Given the description of an element on the screen output the (x, y) to click on. 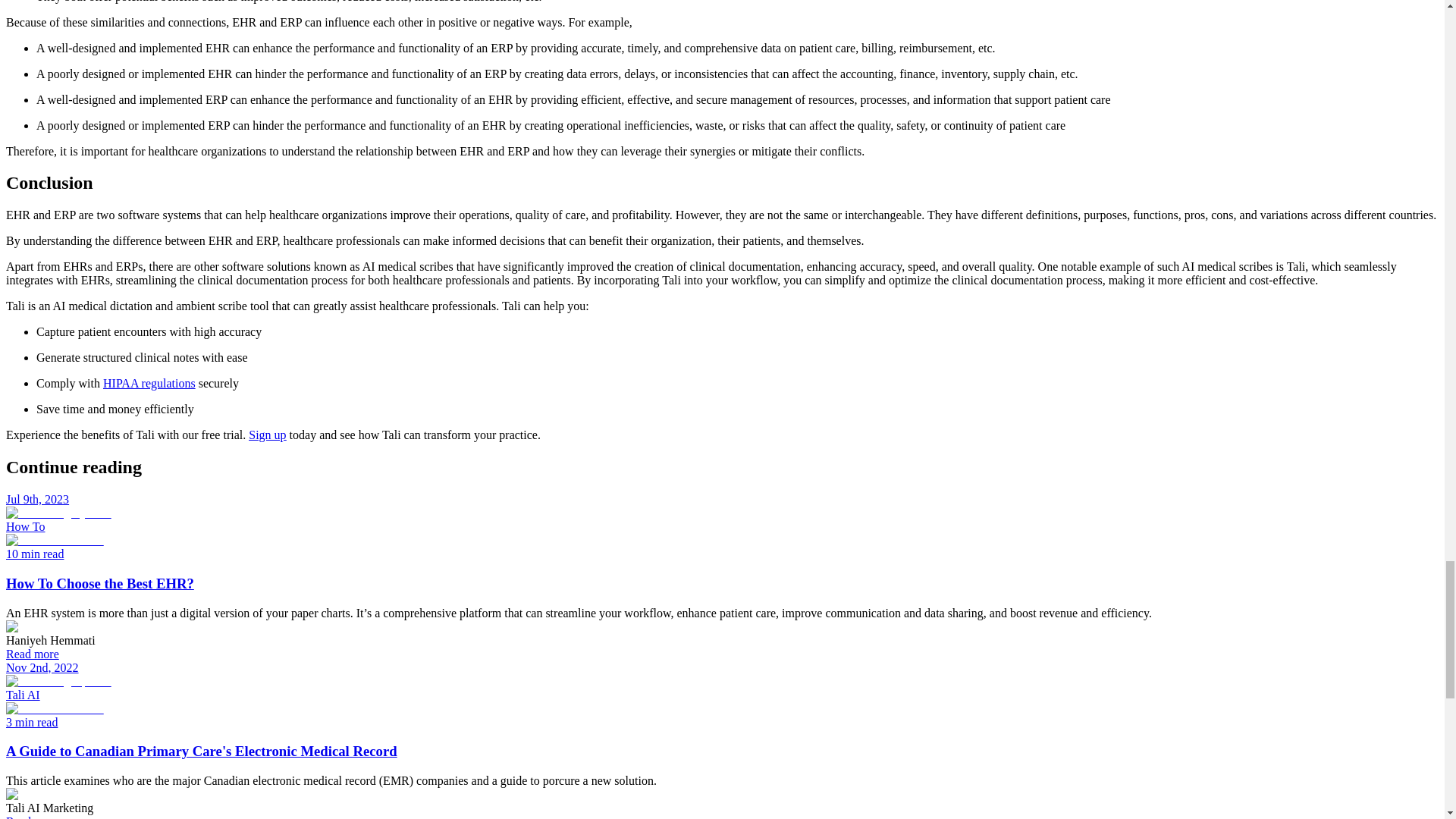
Sign up (266, 434)
HIPAA regulations (149, 382)
Read more (32, 816)
Read more (32, 653)
